Given the description of an element on the screen output the (x, y) to click on. 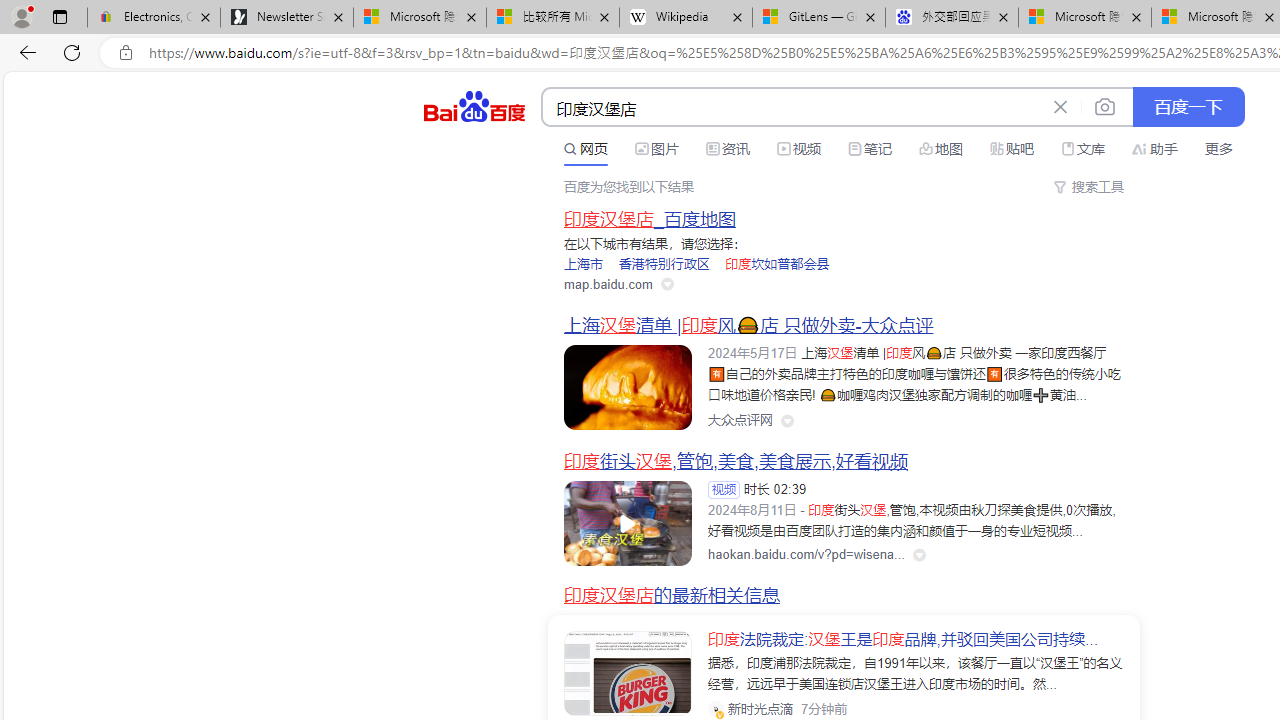
Wikipedia (685, 17)
Electronics, Cars, Fashion, Collectibles & More | eBay (154, 17)
